Given the description of an element on the screen output the (x, y) to click on. 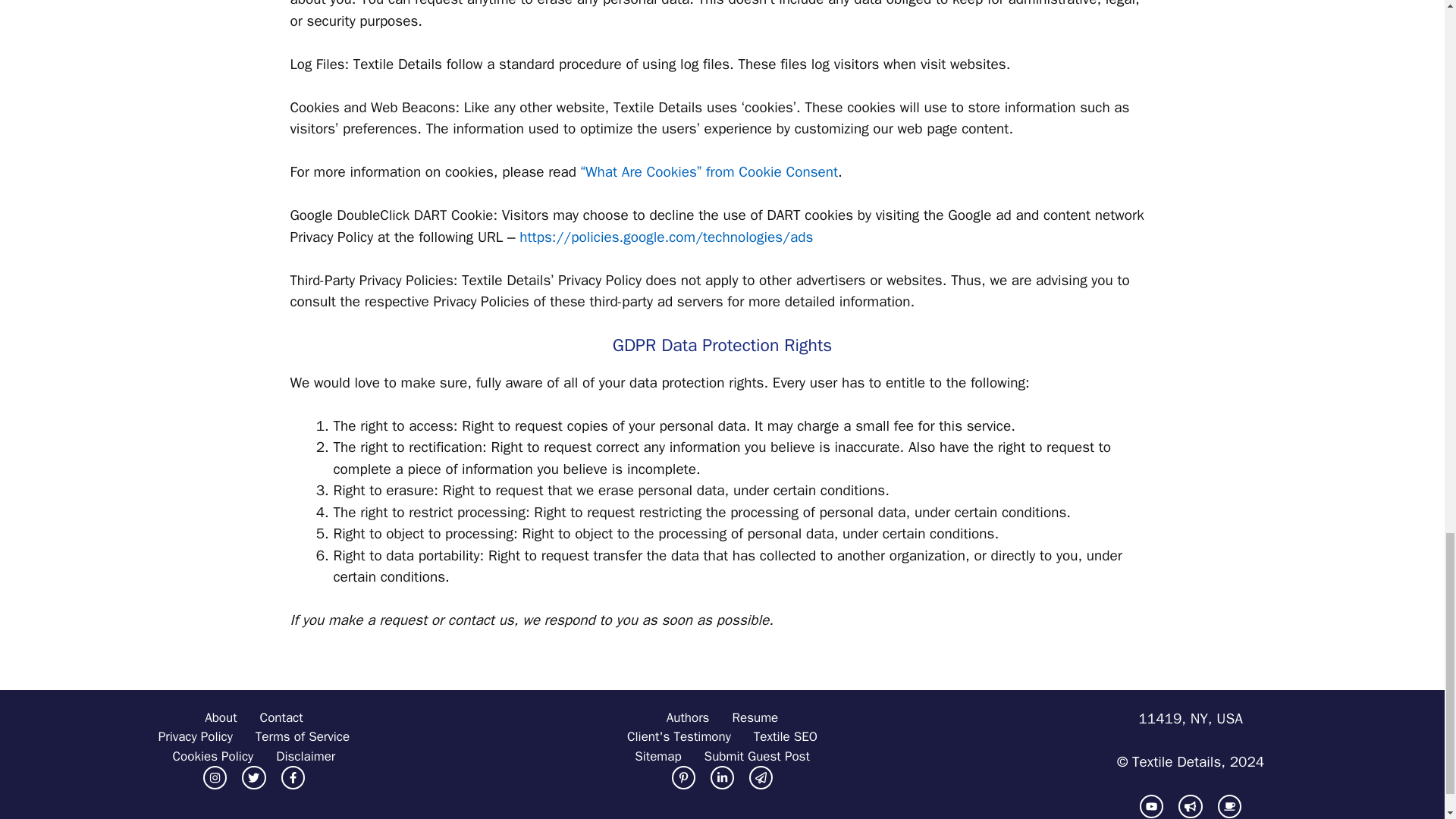
Textile SEO (302, 736)
Contact (785, 736)
Authors (281, 718)
Privacy Policy (688, 718)
Disclaimer (195, 736)
Client's Testimony (305, 756)
About (678, 736)
Cookies Policy (220, 718)
